Given the description of an element on the screen output the (x, y) to click on. 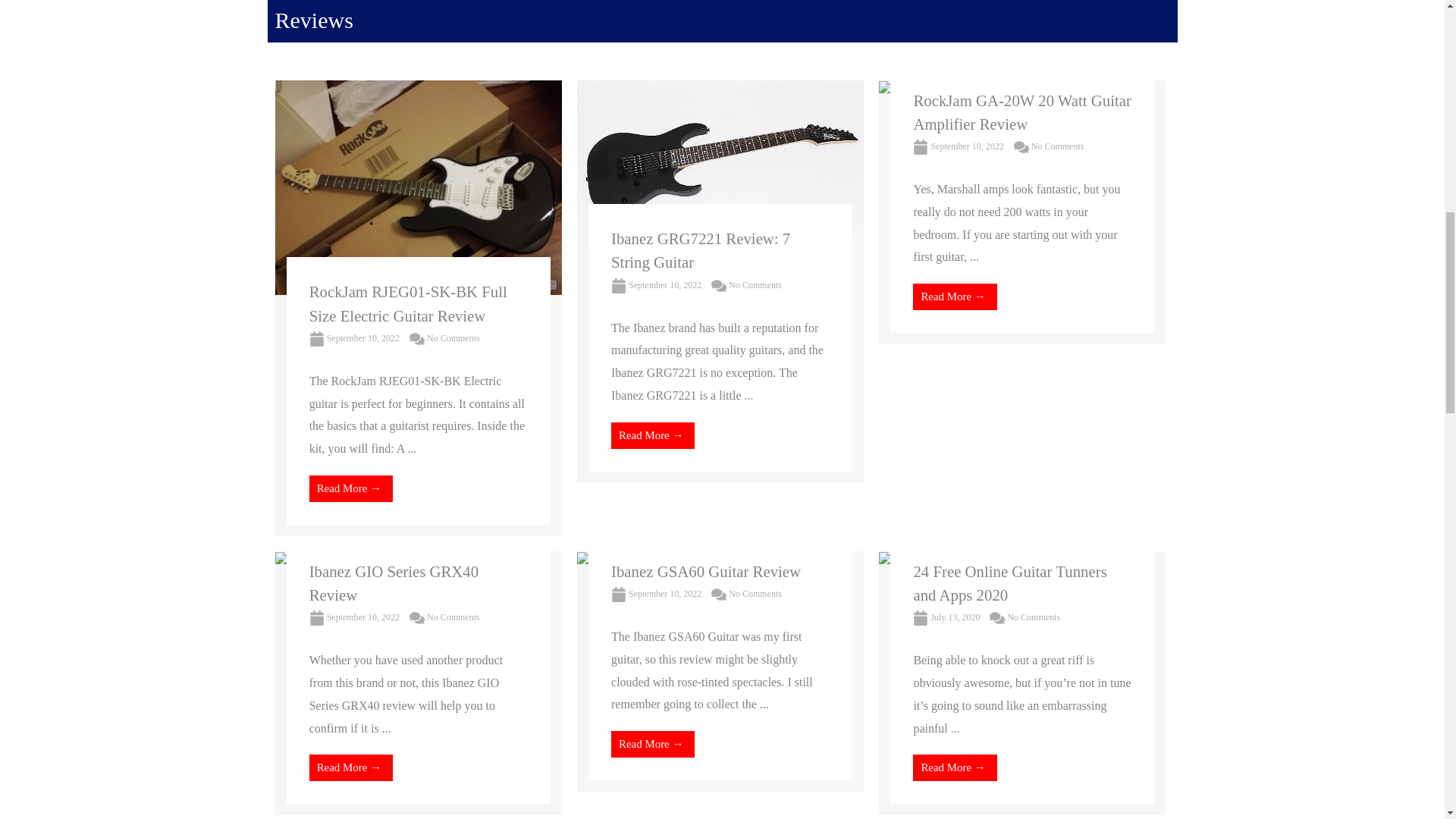
24 Free Online Guitar Tunners and Apps 2020 (980, 562)
Ibanez GRG7221 Review: 7 String Guitar (719, 159)
RockJam RJEG01-SK-BK Full Size Electric Guitar Review (417, 185)
Ibanez GRG7221 Review: 7 String Guitar (700, 250)
Ibanez GSA60 Guitar Review (654, 562)
RockJam GA-20W 20 Watt Guitar Amplifier Review (1021, 111)
Ibanez GSA60 Guitar Review (705, 570)
Ibanez GIO Series GRX40 Review (393, 582)
24 Free Online Guitar Tunners and Apps 2020 (1009, 582)
RockJam GA-20W 20 Watt Guitar Amplifier Review (932, 91)
